Given the description of an element on the screen output the (x, y) to click on. 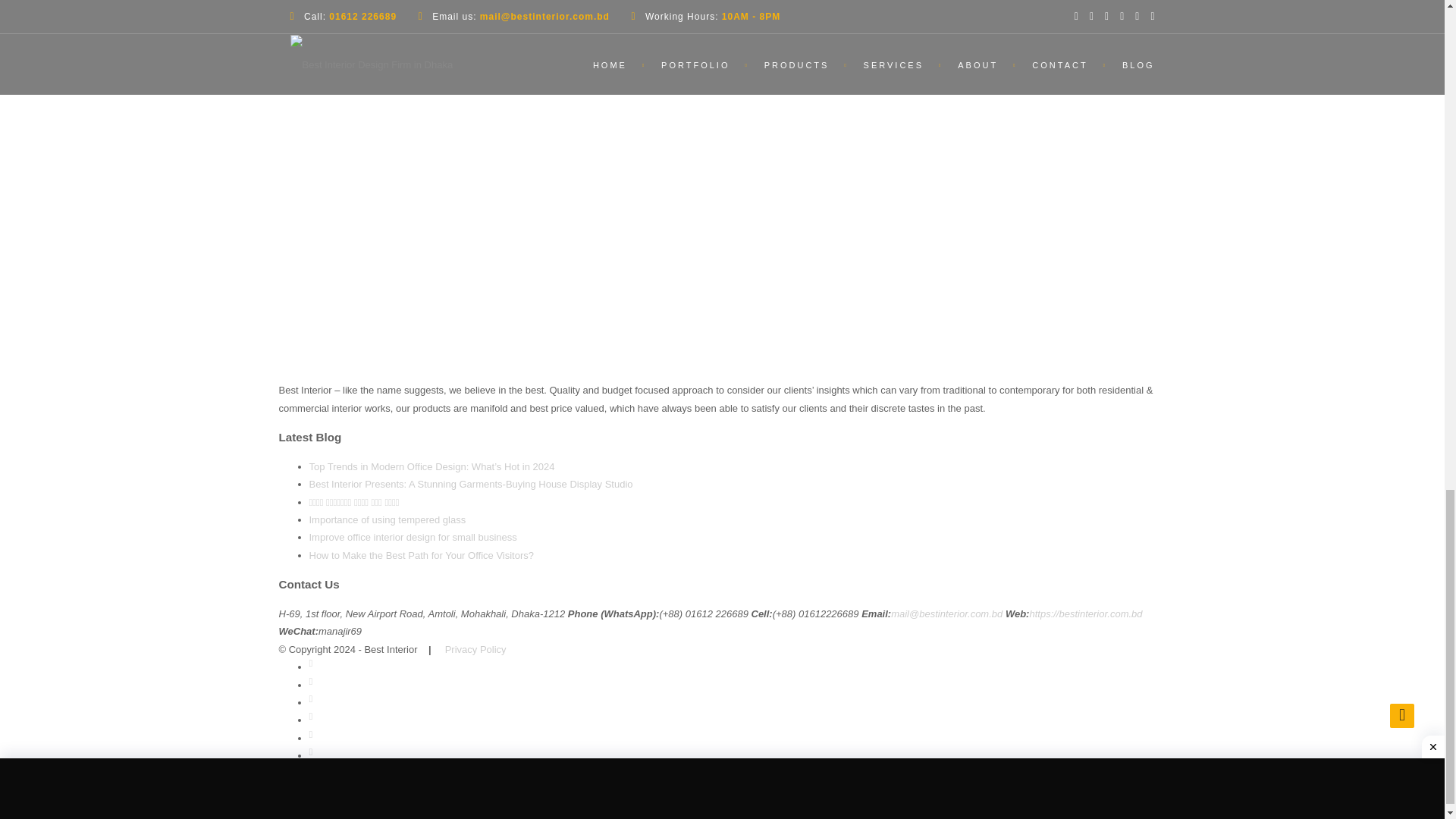
Importance of using tempered glass (386, 519)
Improve office interior design for small business (412, 536)
